Given the description of an element on the screen output the (x, y) to click on. 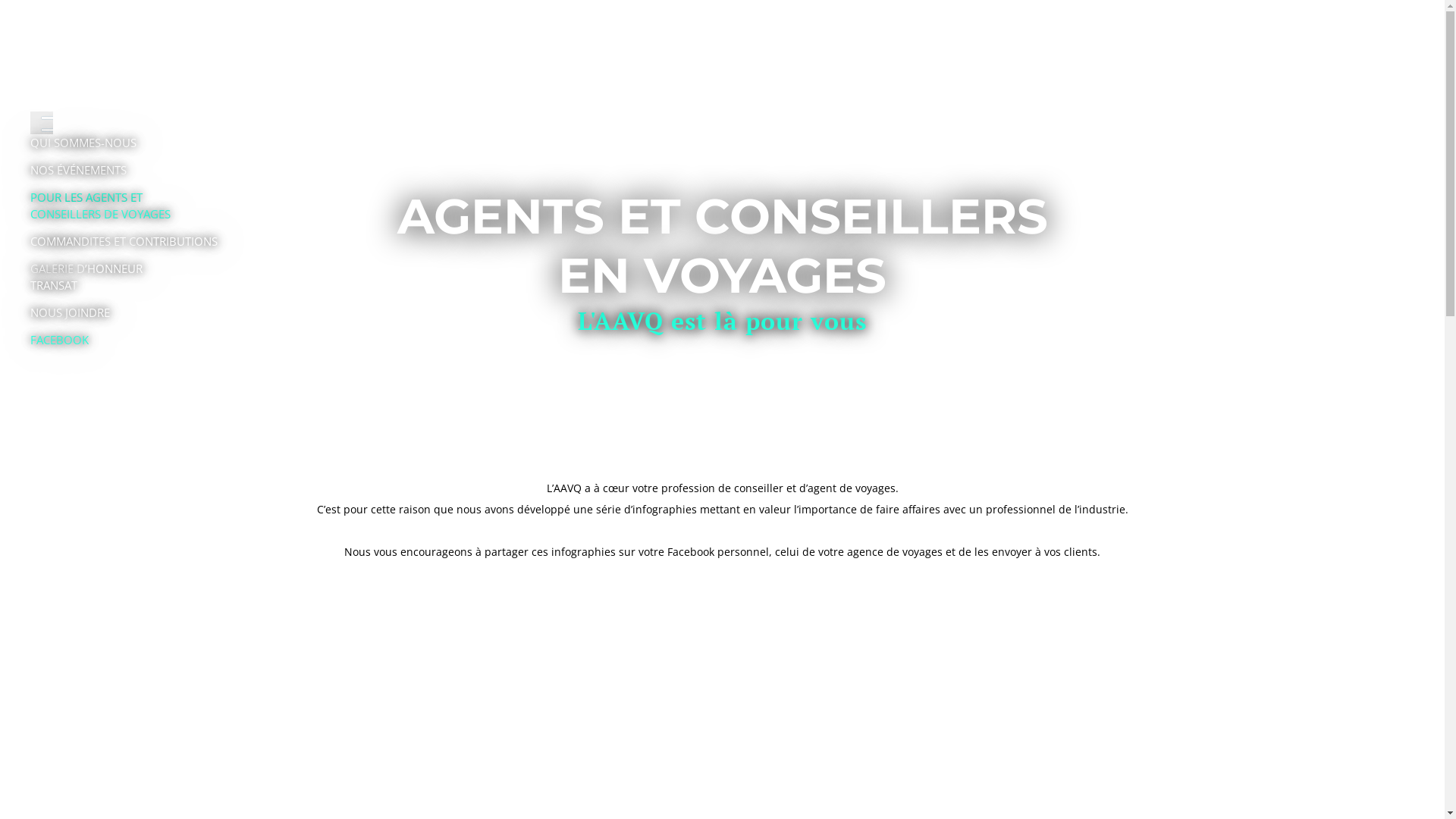
QUI SOMMES-NOUS Element type: text (83, 142)
NOUS JOINDRE Element type: text (69, 312)
POUR LES AGENTS ET
CONSEILLERS DE VOYAGES Element type: text (100, 205)
FACEBOOK Element type: text (59, 339)
COMMANDITES ET CONTRIBUTIONS Element type: text (123, 240)
